Given the description of an element on the screen output the (x, y) to click on. 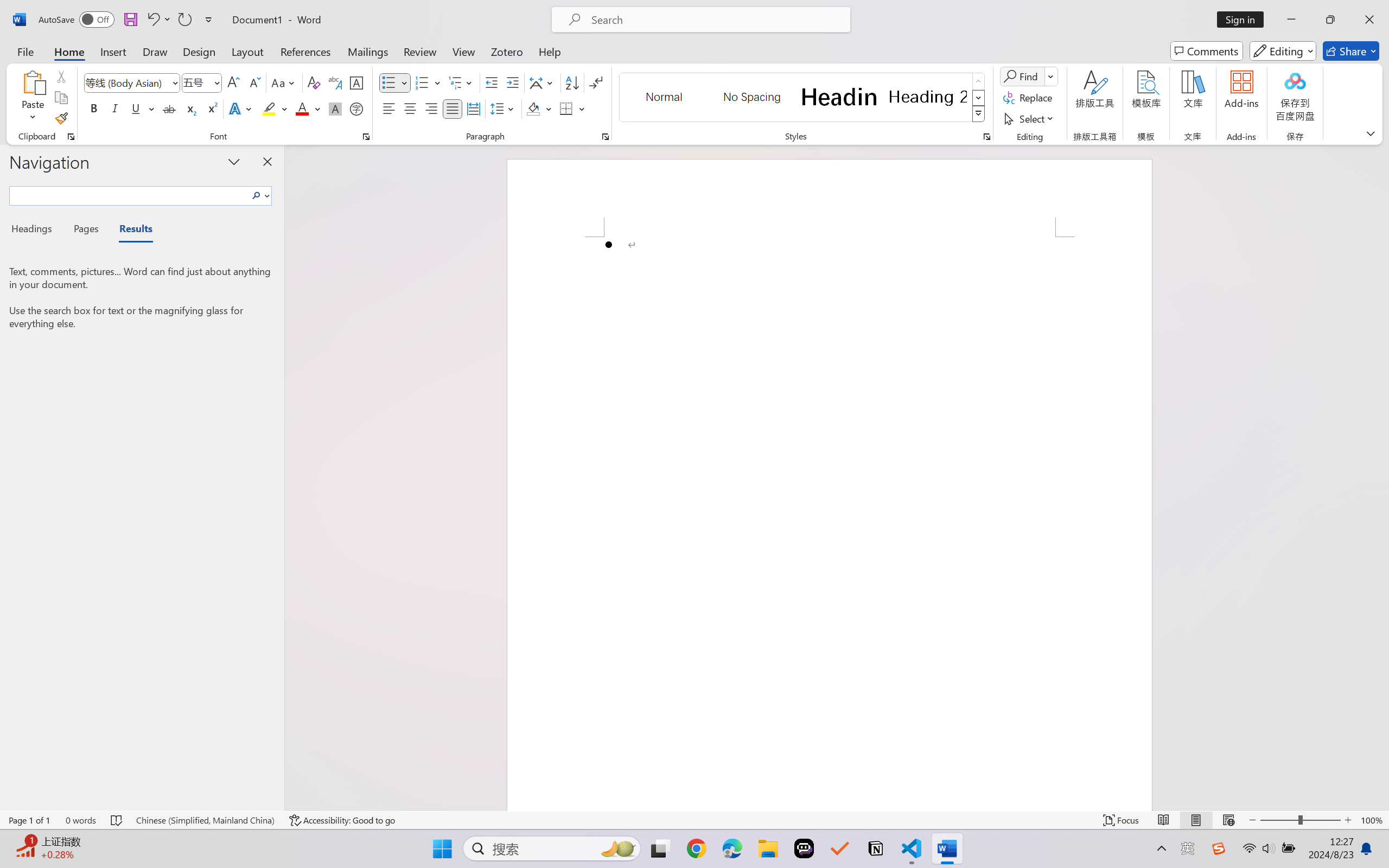
AutomationID: QuickStylesGallery (802, 97)
